Given the description of an element on the screen output the (x, y) to click on. 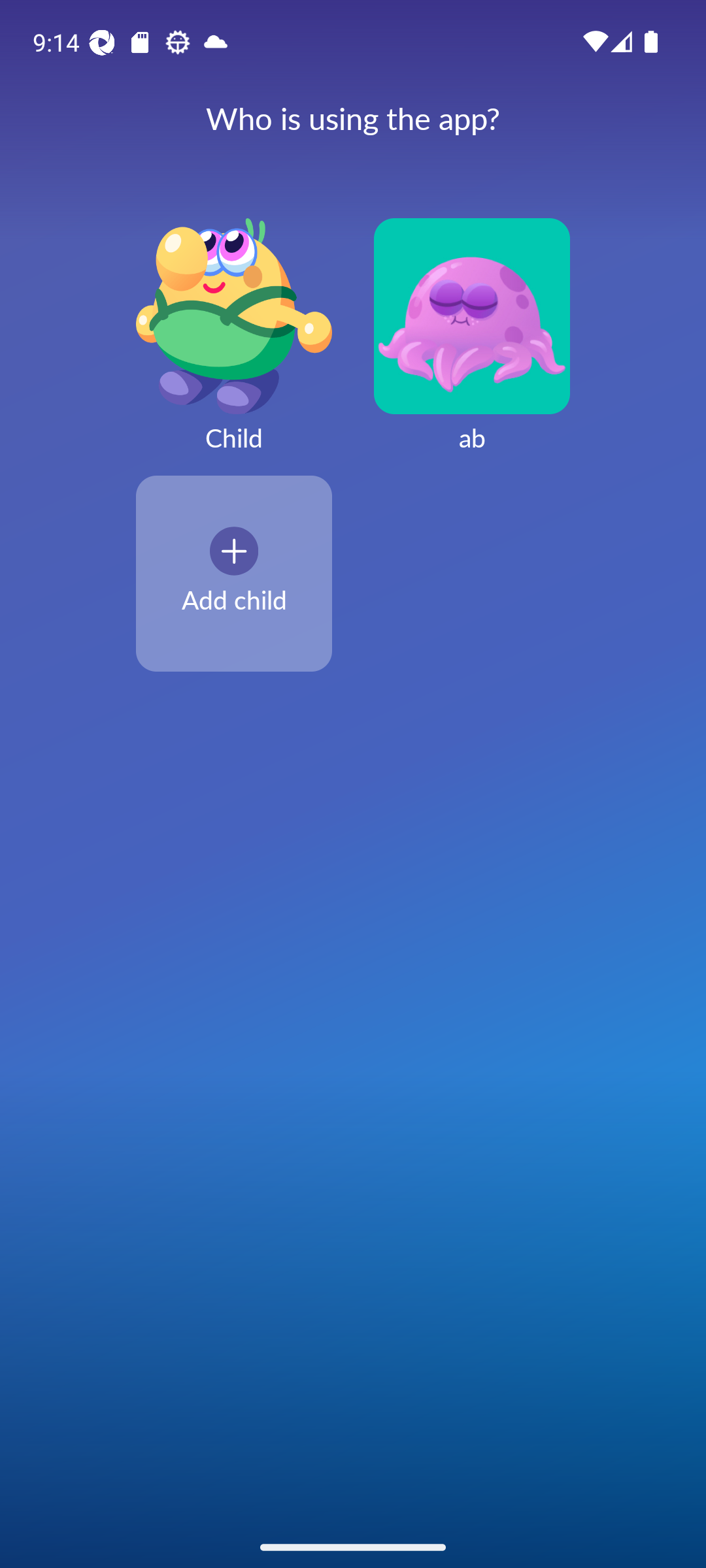
Child (233, 346)
ab (471, 346)
Add child (233, 573)
